Given the description of an element on the screen output the (x, y) to click on. 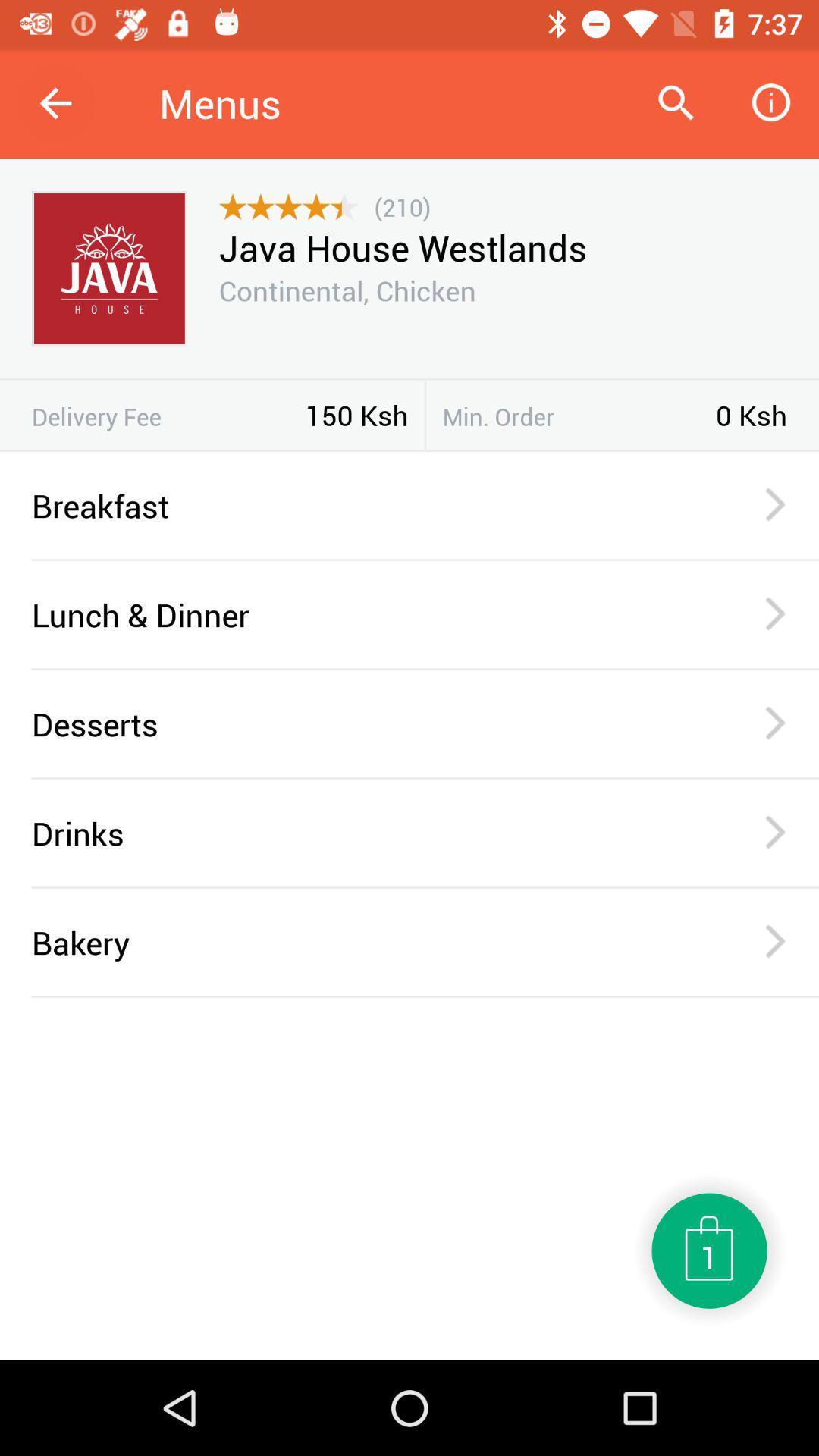
turn off item above the 150 ksh item (409, 379)
